Given the description of an element on the screen output the (x, y) to click on. 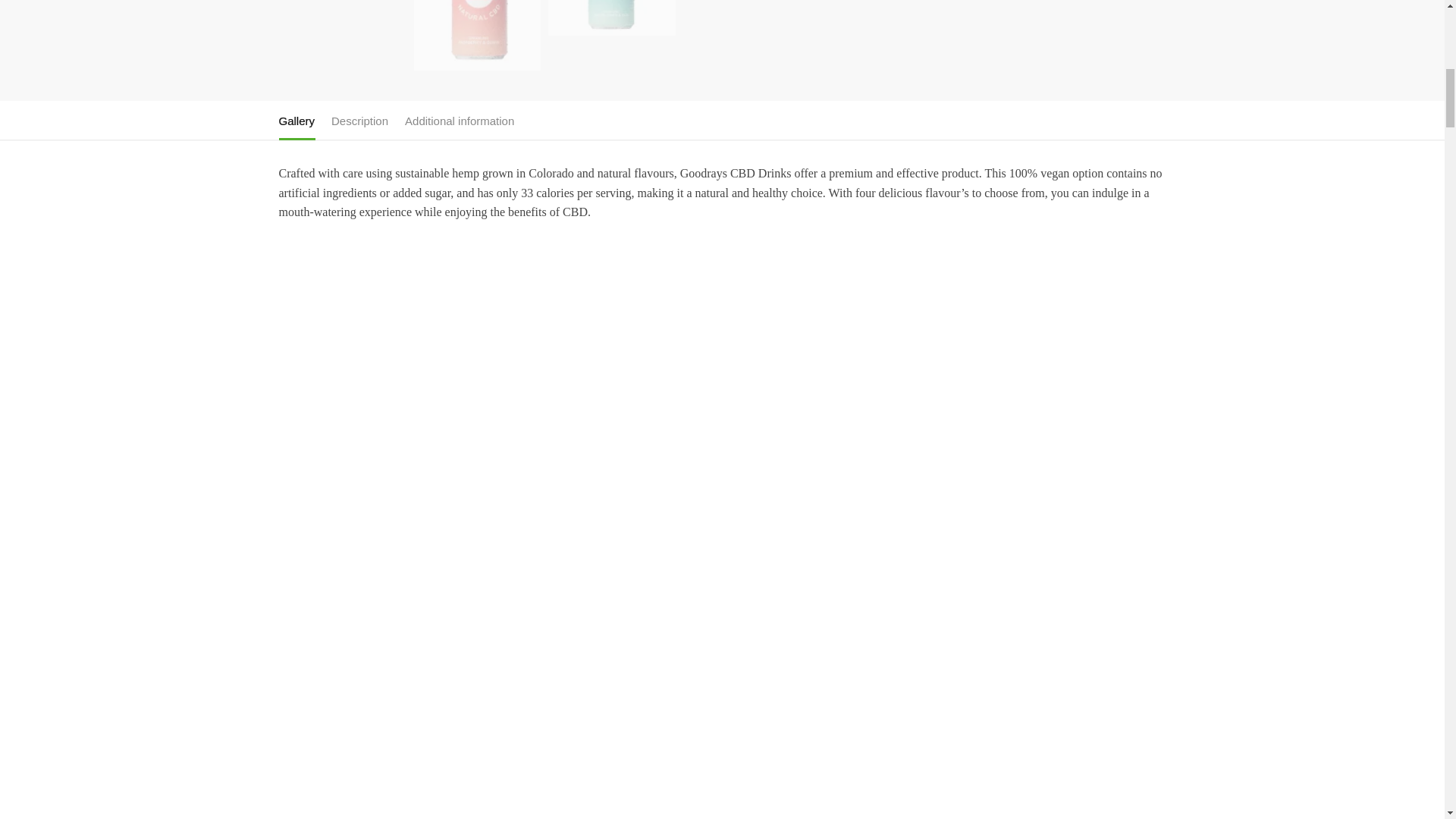
Goodrays CBD Drinks (342, 13)
passionfruit and pomelo cbd drink (746, 17)
raspberry and guava cbd drink (477, 34)
Elderflower and Yuzu CBD Drink (611, 17)
